Given the description of an element on the screen output the (x, y) to click on. 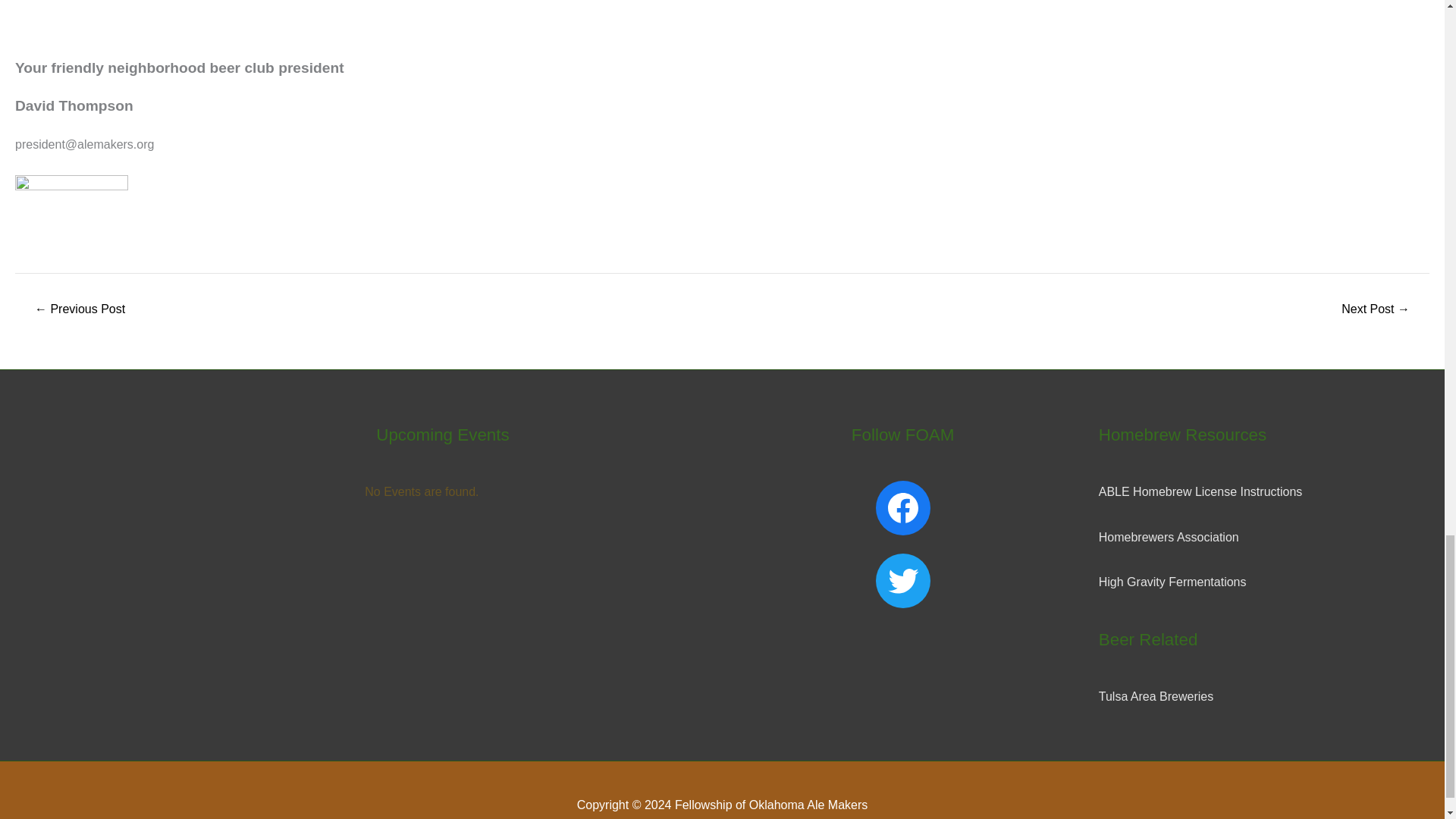
January Officer Meeting Minutes (1375, 309)
